Given the description of an element on the screen output the (x, y) to click on. 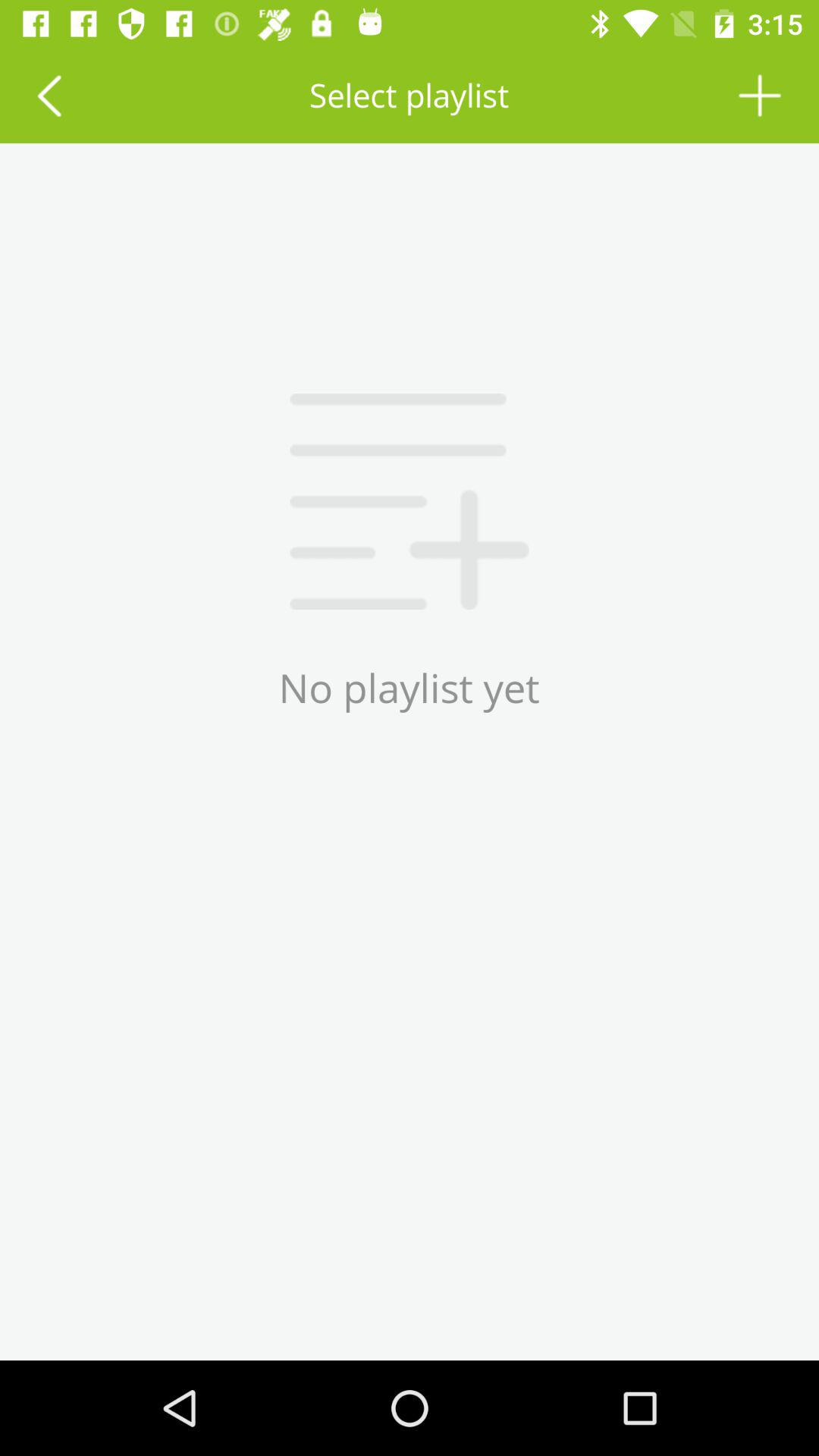
tap the item next to select playlist icon (48, 95)
